Given the description of an element on the screen output the (x, y) to click on. 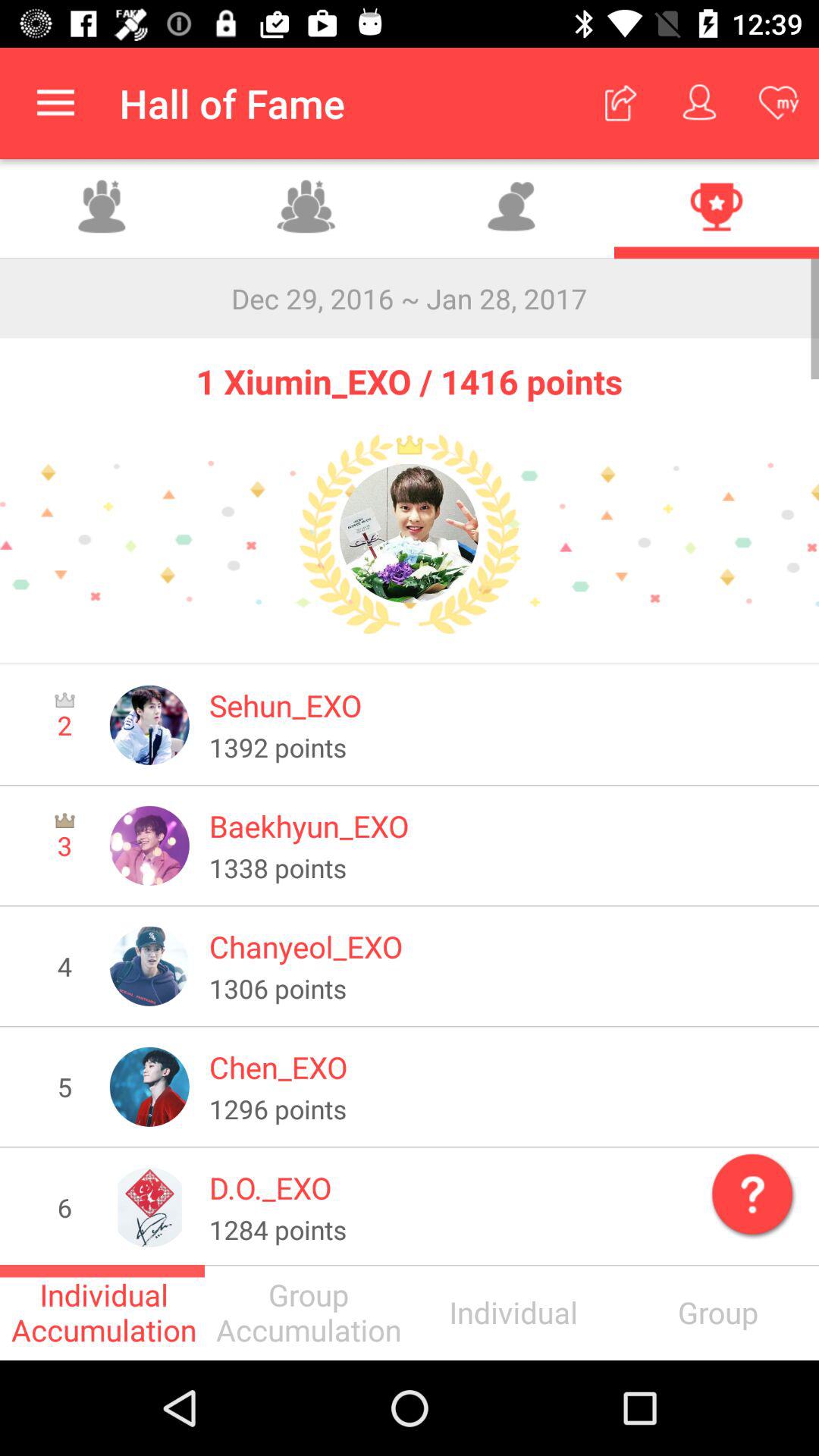
press the item next to the hall of fame app (55, 103)
